Given the description of an element on the screen output the (x, y) to click on. 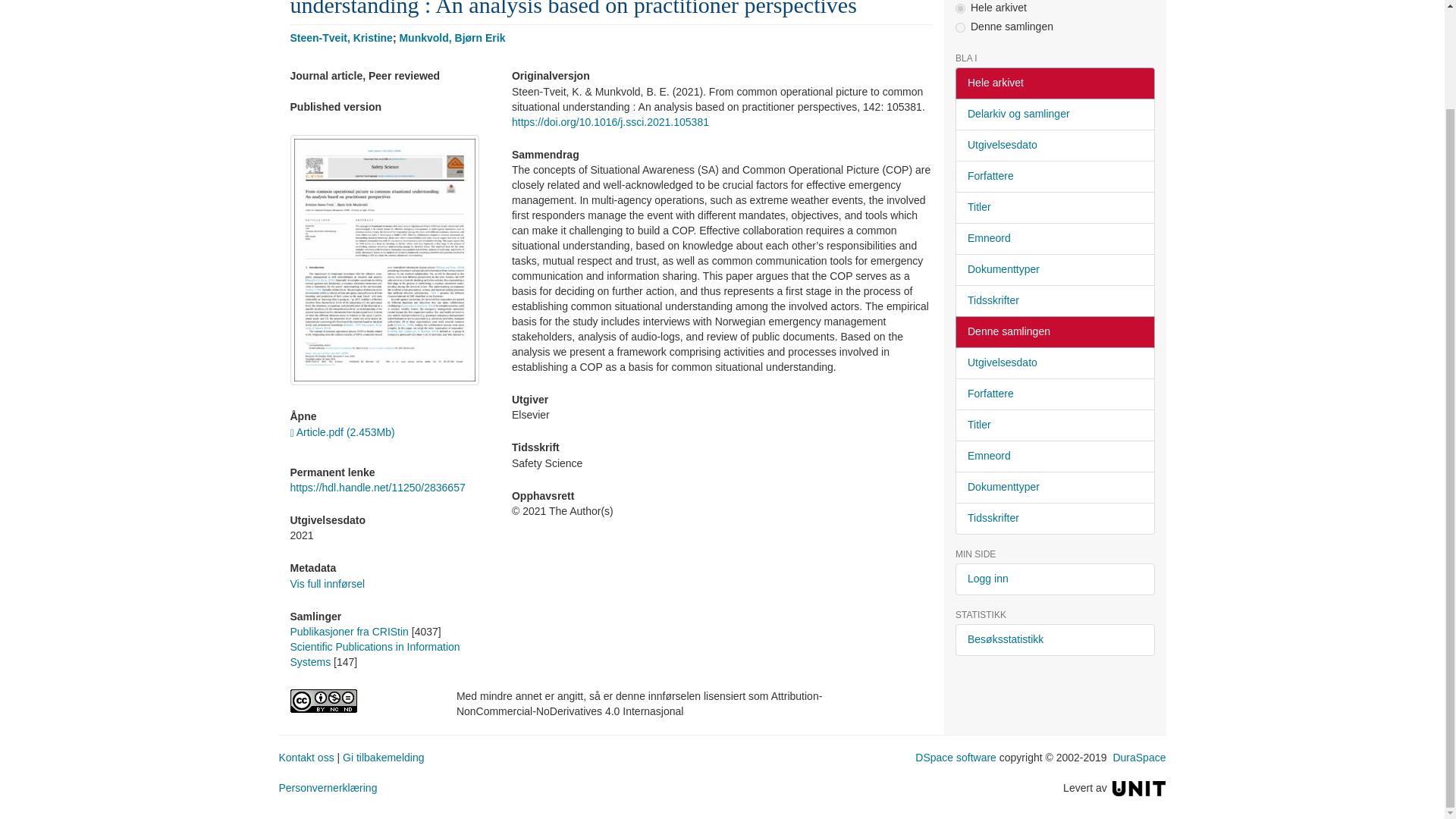
Scientific Publications in Information Systems (374, 654)
Publikasjoner fra CRIStin (348, 631)
Hele arkivet (1054, 83)
Forfattere (1054, 176)
Attribution-NonCommercial-NoDerivatives 4.0 Internasjonal (360, 700)
Utgivelsesdato (1054, 145)
Unit (1139, 787)
Delarkiv og samlinger (1054, 114)
Steen-Tveit, Kristine (340, 37)
